Given the description of an element on the screen output the (x, y) to click on. 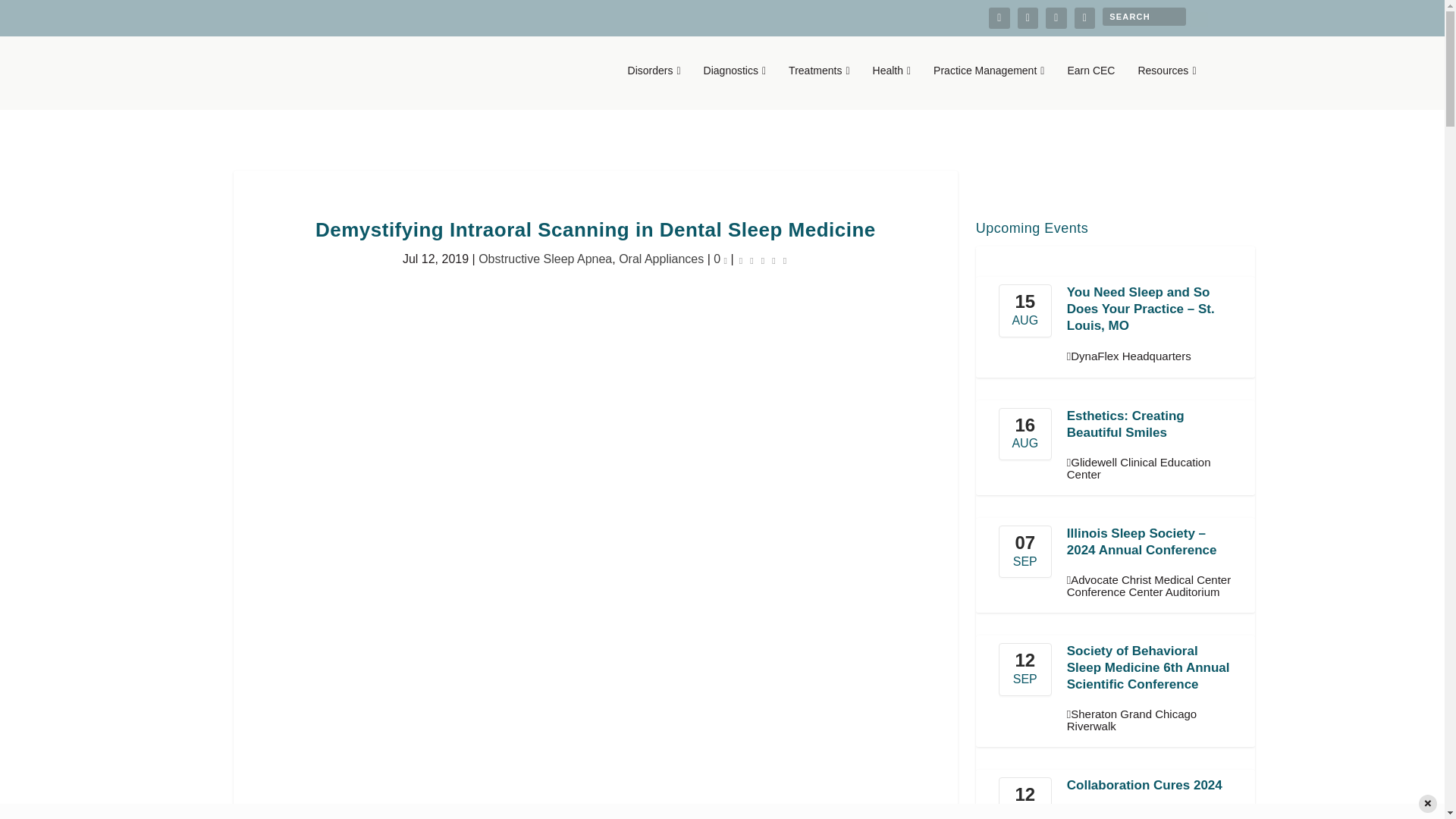
Disorders (654, 86)
Resources (1166, 86)
Rating: 0.00 (762, 259)
Practice Management (988, 86)
Search for: (1144, 16)
Diagnostics (735, 86)
Earn CEC (1091, 86)
Treatments (818, 86)
